Given the description of an element on the screen output the (x, y) to click on. 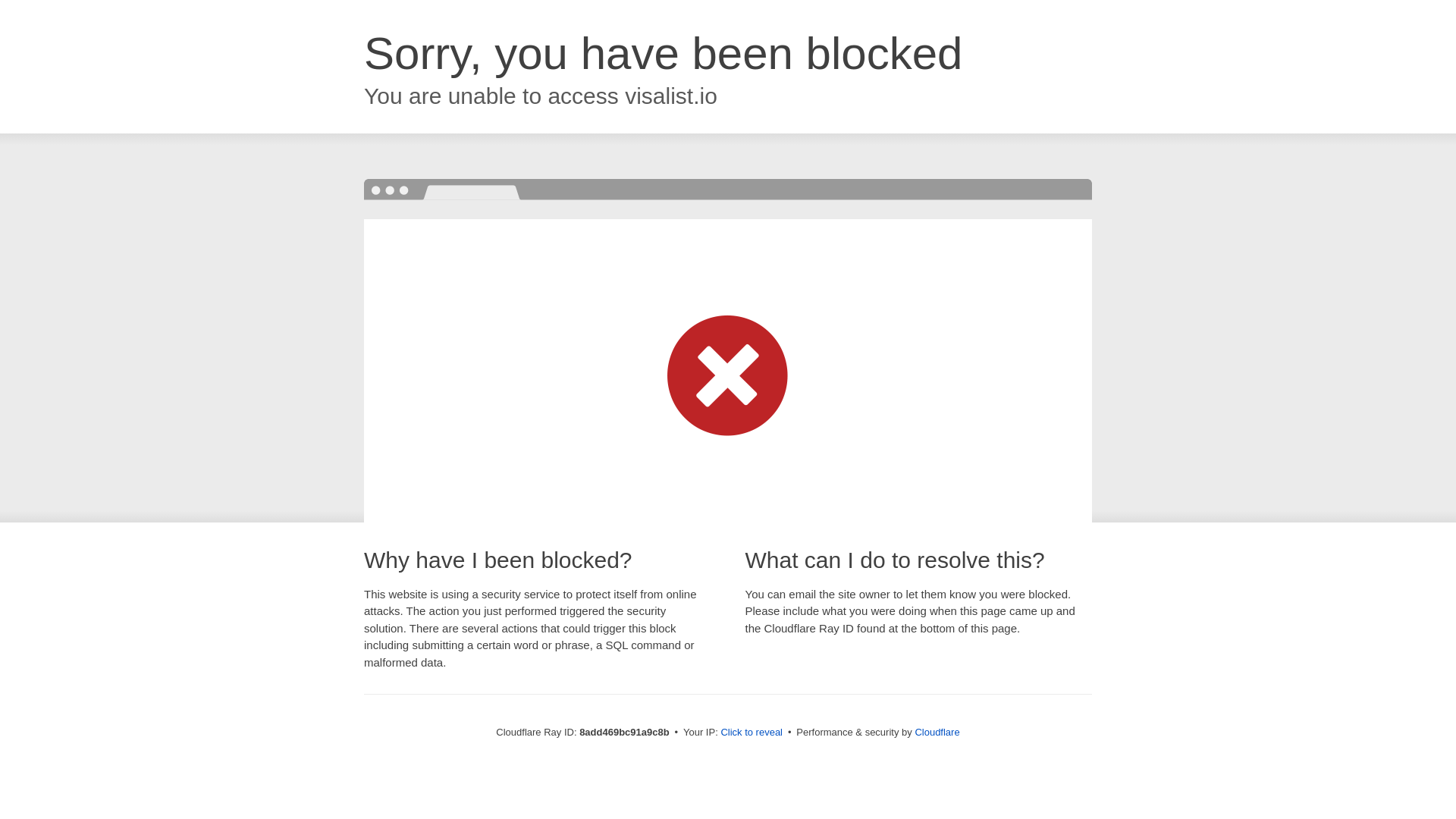
Click to reveal (751, 732)
Cloudflare (936, 731)
